Given the description of an element on the screen output the (x, y) to click on. 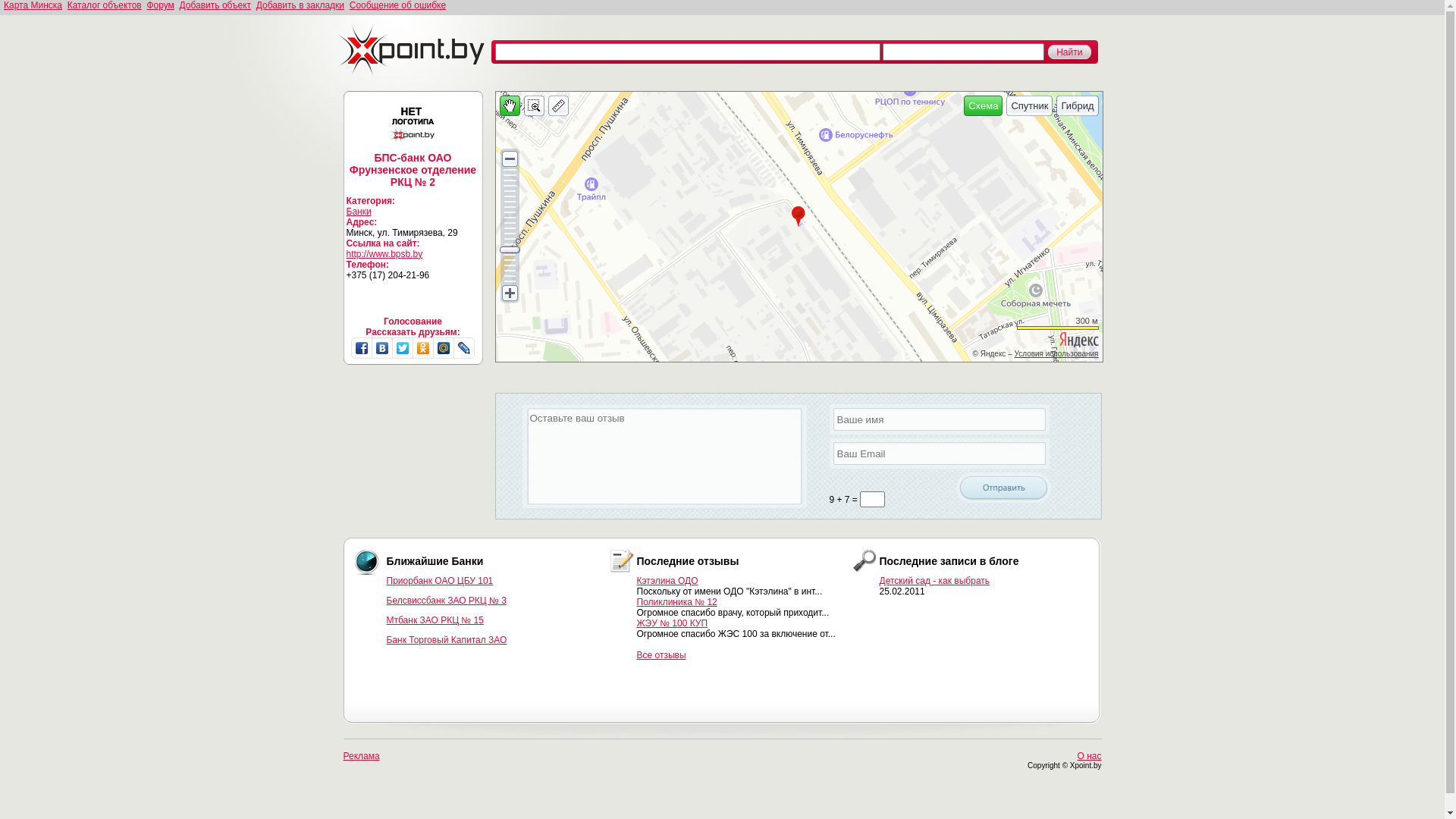
LiveJournal Element type: hover (464, 347)
Twitter Element type: hover (403, 347)
http://www.bpsb.by Element type: text (383, 253)
Facebook Element type: hover (362, 347)
